Given the description of an element on the screen output the (x, y) to click on. 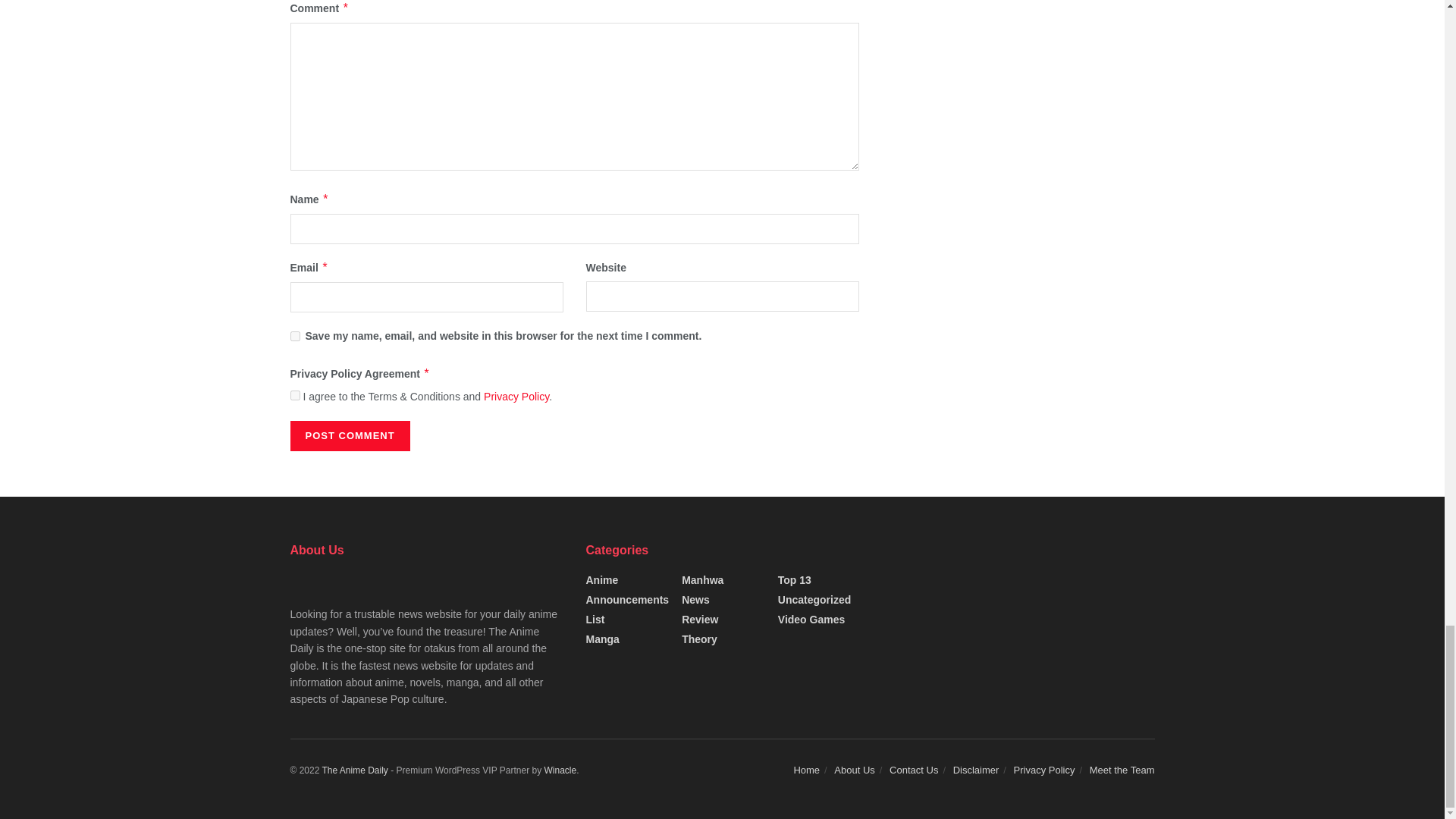
Winacle (560, 769)
Post Comment (349, 435)
on (294, 395)
yes (294, 336)
